Given the description of an element on the screen output the (x, y) to click on. 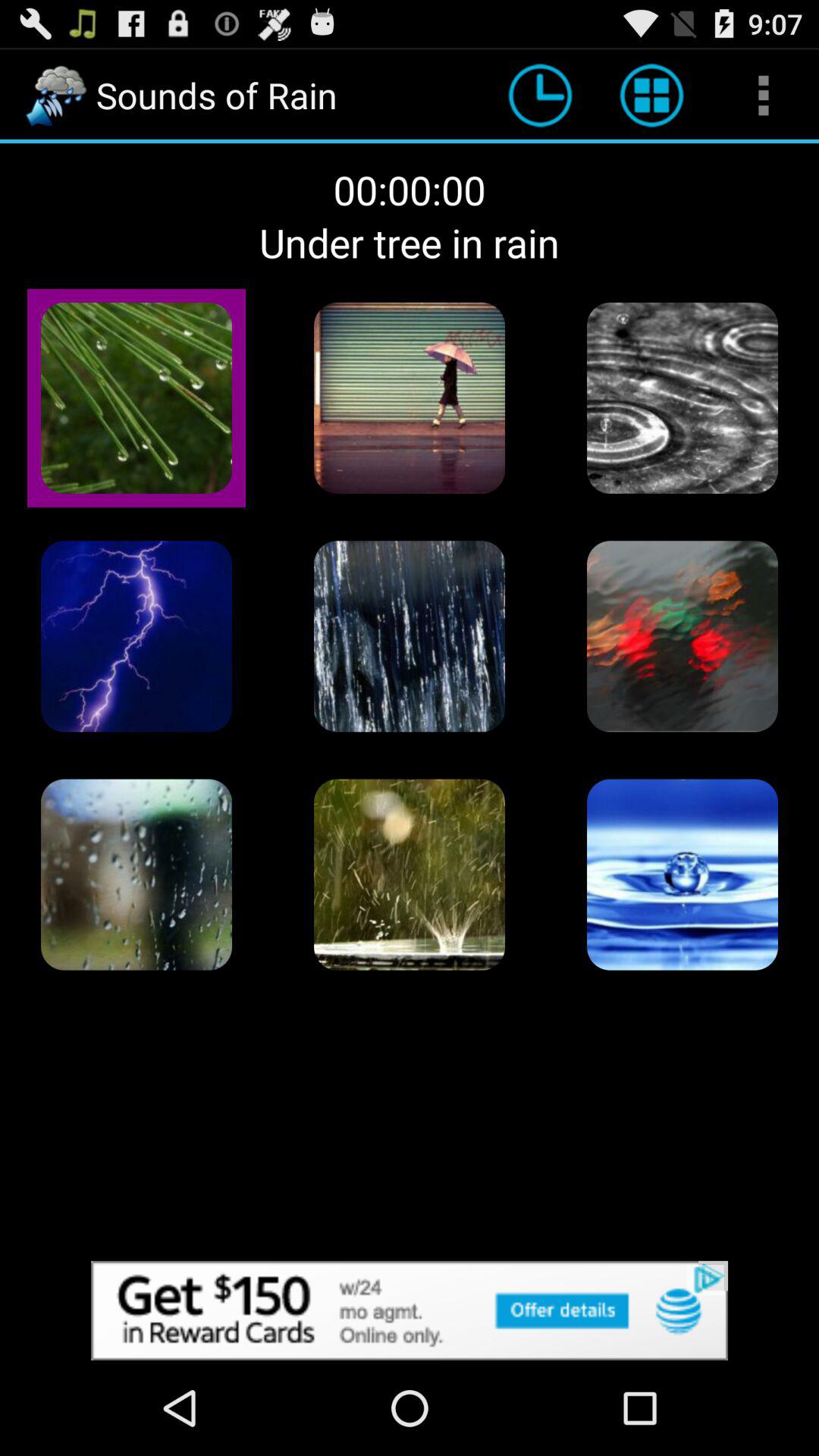
advertisement (409, 1310)
